Given the description of an element on the screen output the (x, y) to click on. 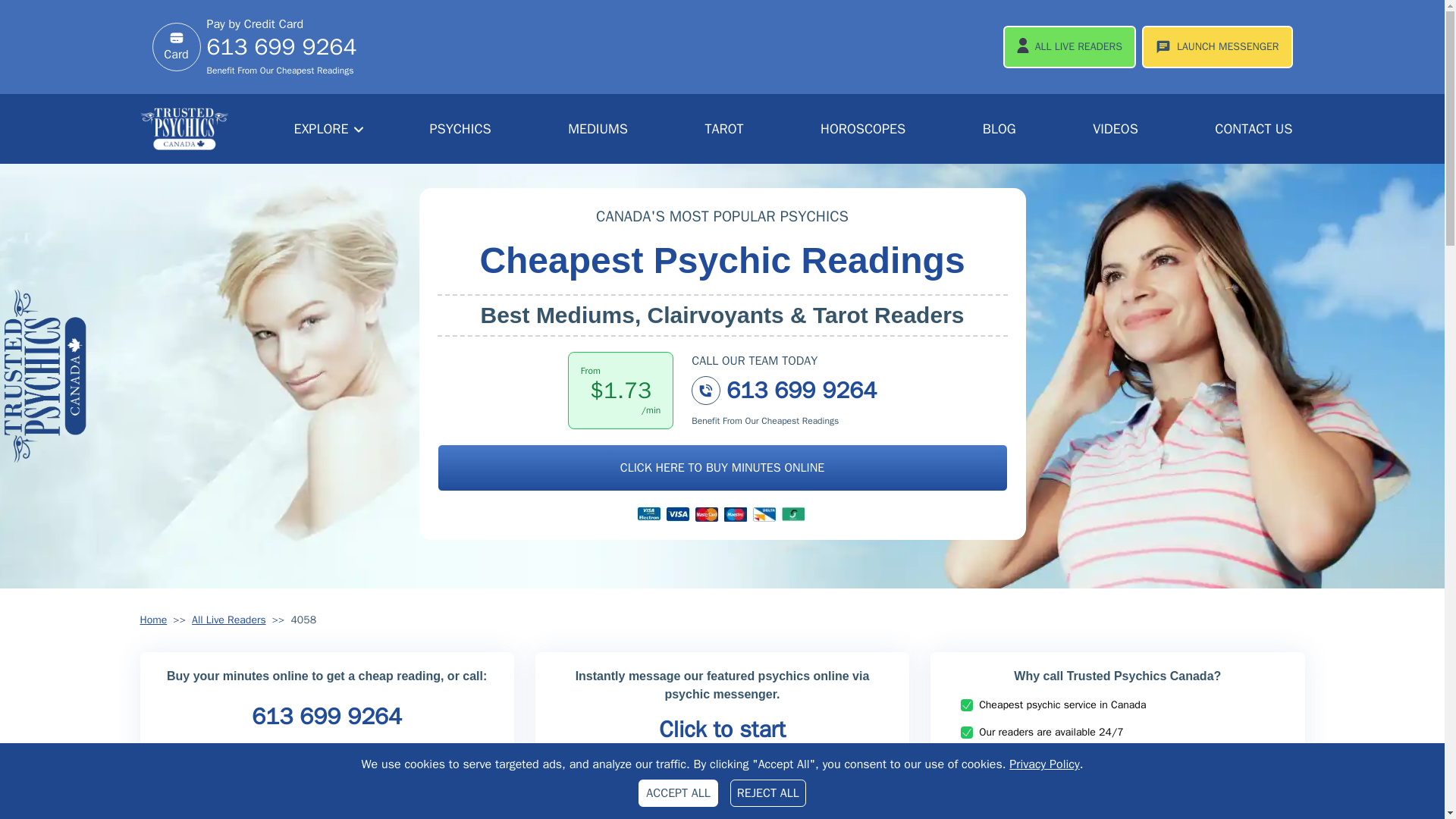
MEDIUMS (598, 128)
PSYCHIC MESSENGER (722, 800)
CLICK HERE TO BUY MINUTES ONLINE (721, 467)
VIDEOS (1115, 128)
BLOG (999, 128)
613 699 9264 (281, 54)
613 699 9264 (326, 716)
All Live Readers (229, 620)
Home (153, 620)
HOROSCOPES (862, 128)
PSYCHICS (459, 128)
TAROT (724, 128)
BUY MINUTES ONLINE (326, 800)
CONTACT US (1253, 128)
ALL LIVE READERS (1069, 46)
